Given the description of an element on the screen output the (x, y) to click on. 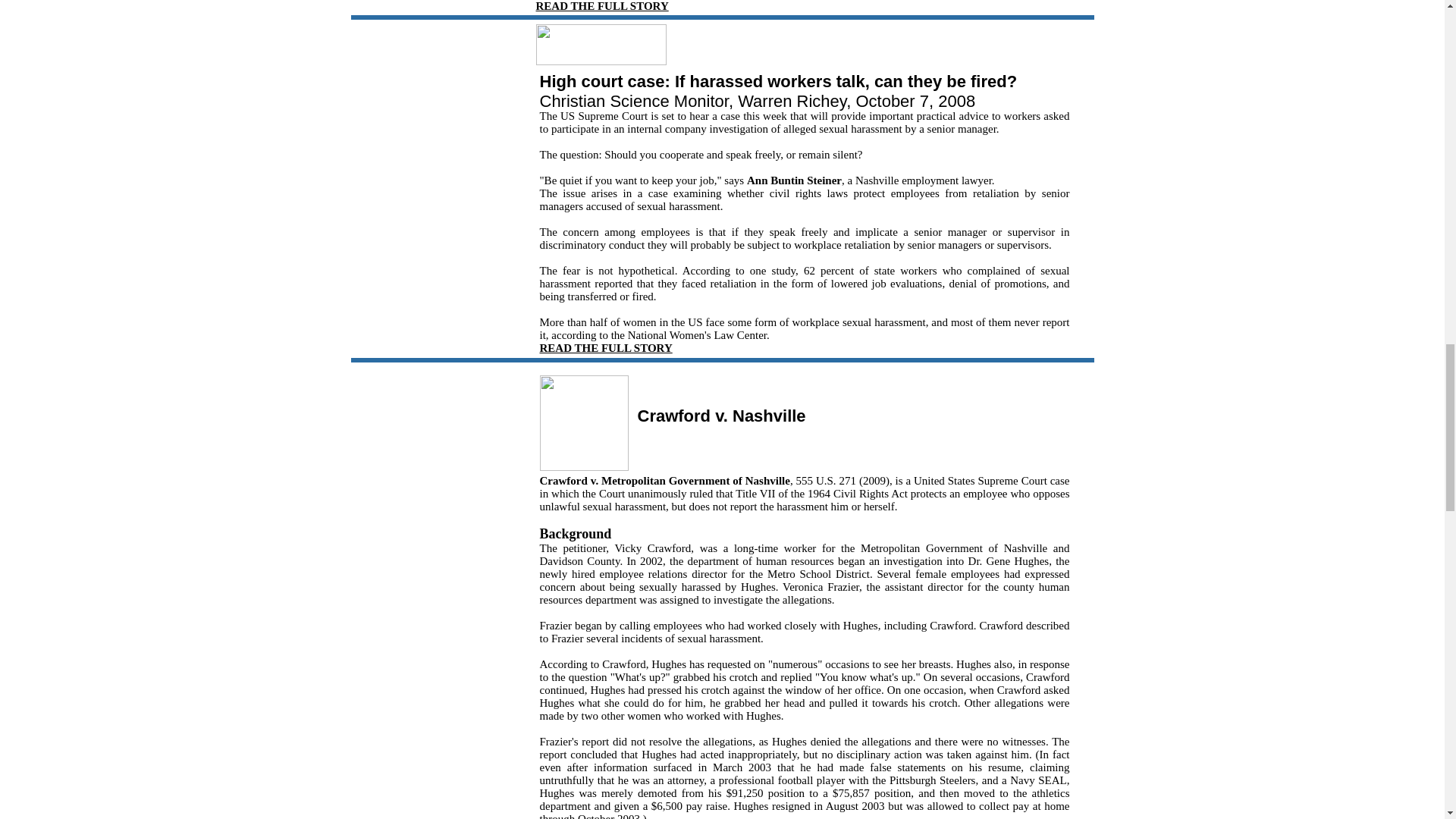
READ THE FULL STORY (601, 6)
READ THE FULL STORY (606, 347)
